Given the description of an element on the screen output the (x, y) to click on. 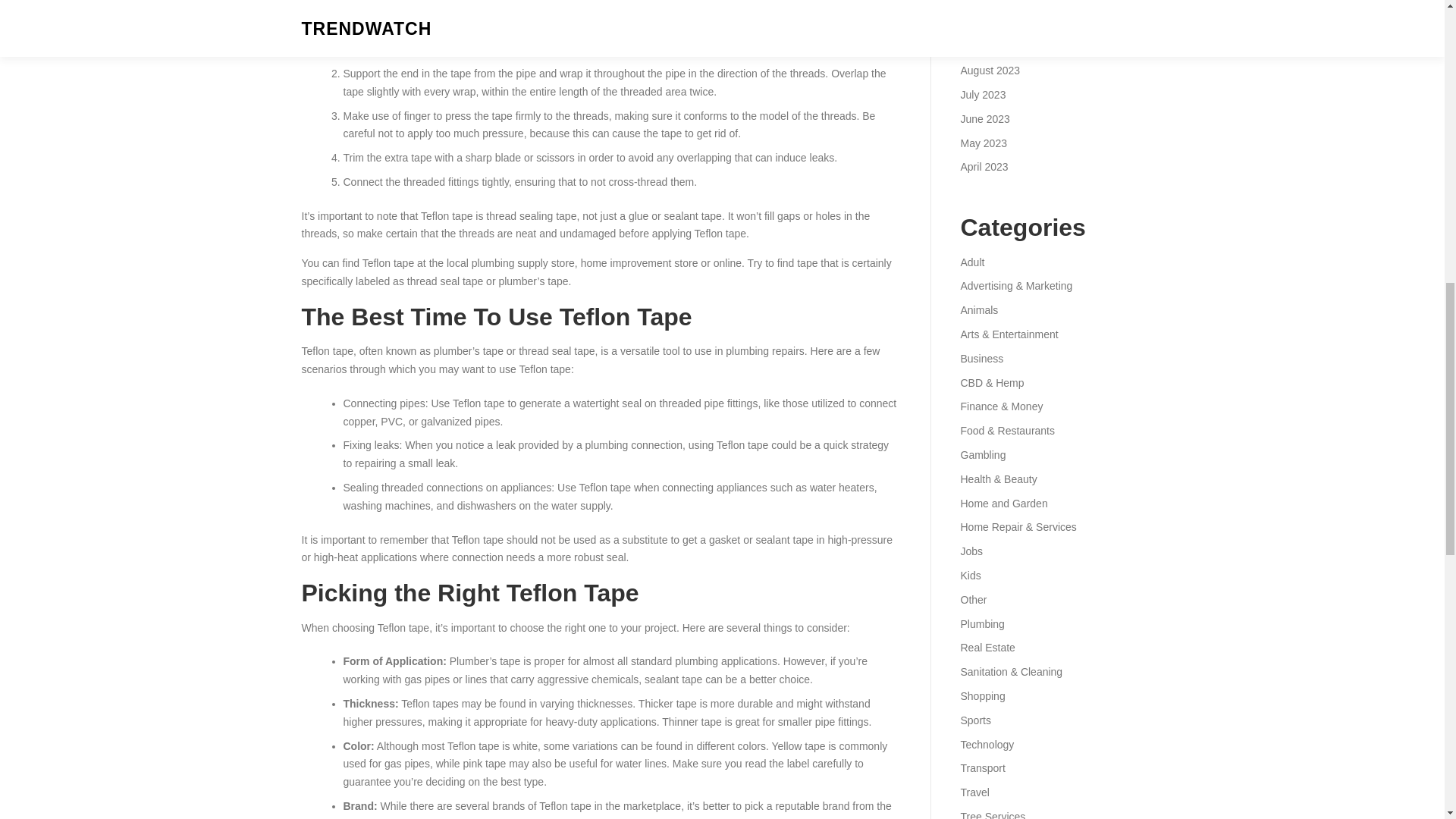
Adult (971, 262)
October 2023 (992, 22)
July 2023 (982, 94)
Gambling (982, 454)
Business (981, 358)
June 2023 (984, 119)
August 2023 (989, 70)
April 2023 (983, 166)
September 2023 (999, 46)
November 2023 (997, 2)
Animals (978, 309)
May 2023 (982, 143)
